Given the description of an element on the screen output the (x, y) to click on. 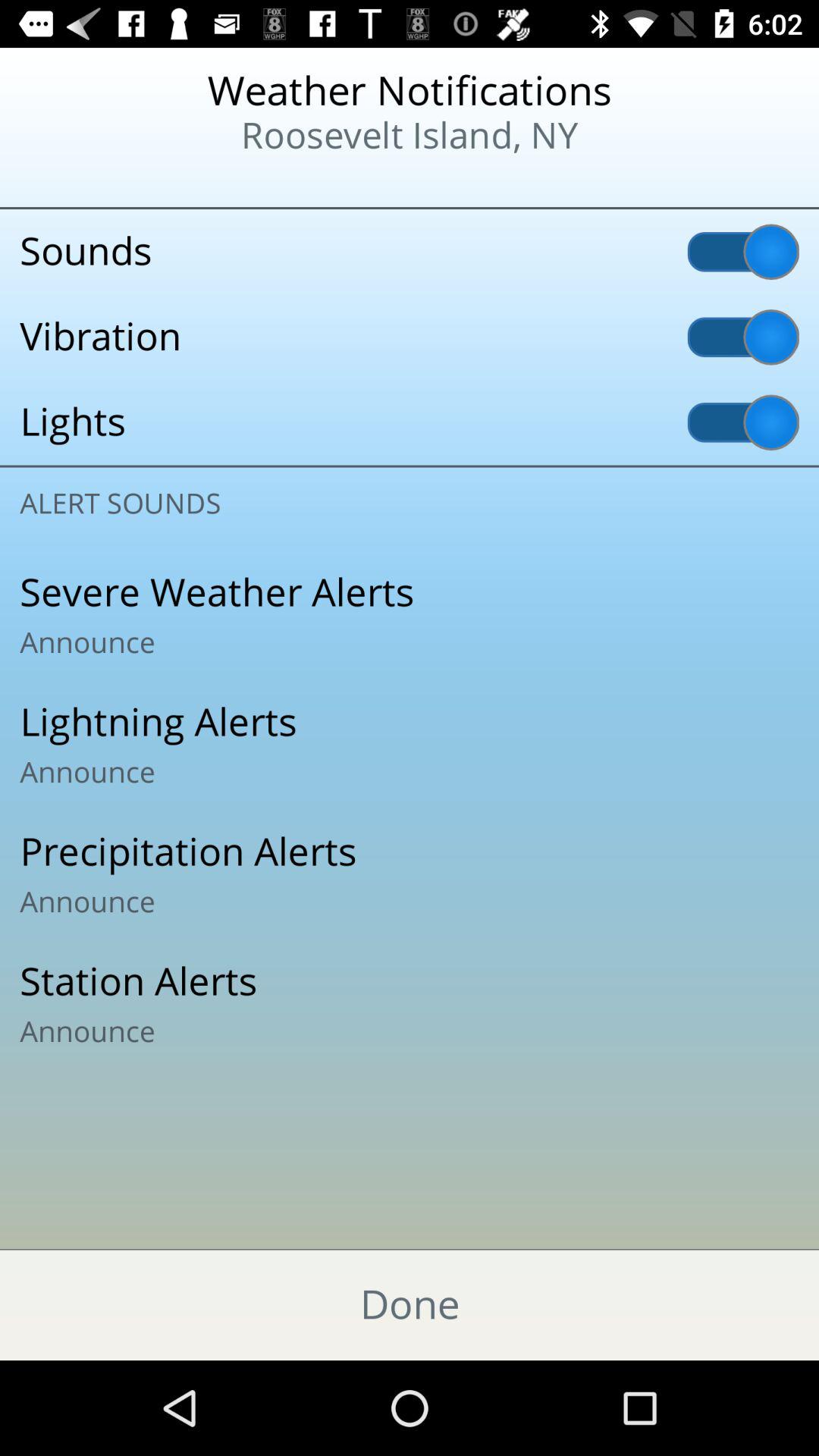
jump to lights item (409, 422)
